Given the description of an element on the screen output the (x, y) to click on. 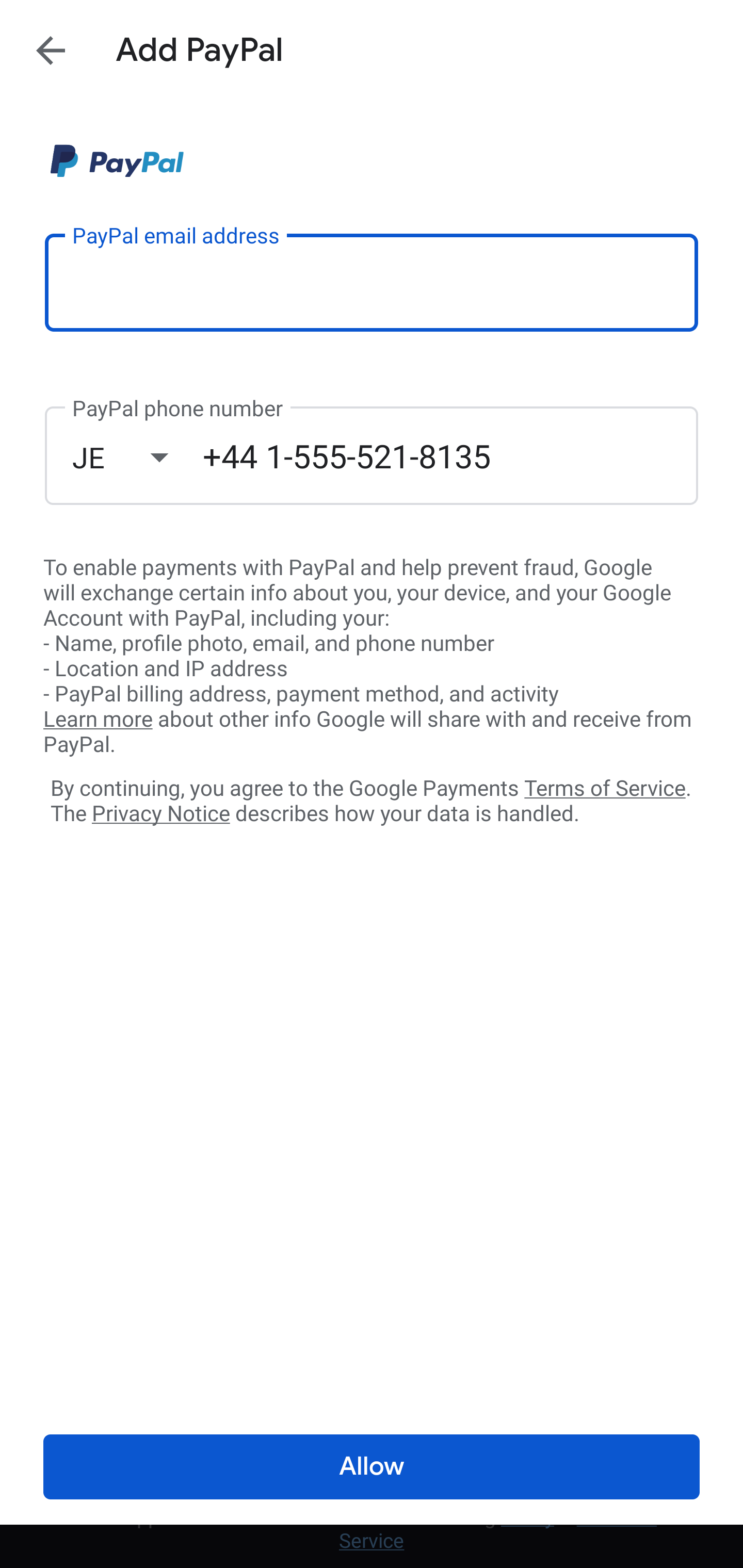
Navigate up (50, 50)
PayPal email address (371, 282)
JE (137, 456)
Learn more (97, 719)
Terms of Service (604, 787)
Privacy Notice (160, 814)
Allow (371, 1466)
